Given the description of an element on the screen output the (x, y) to click on. 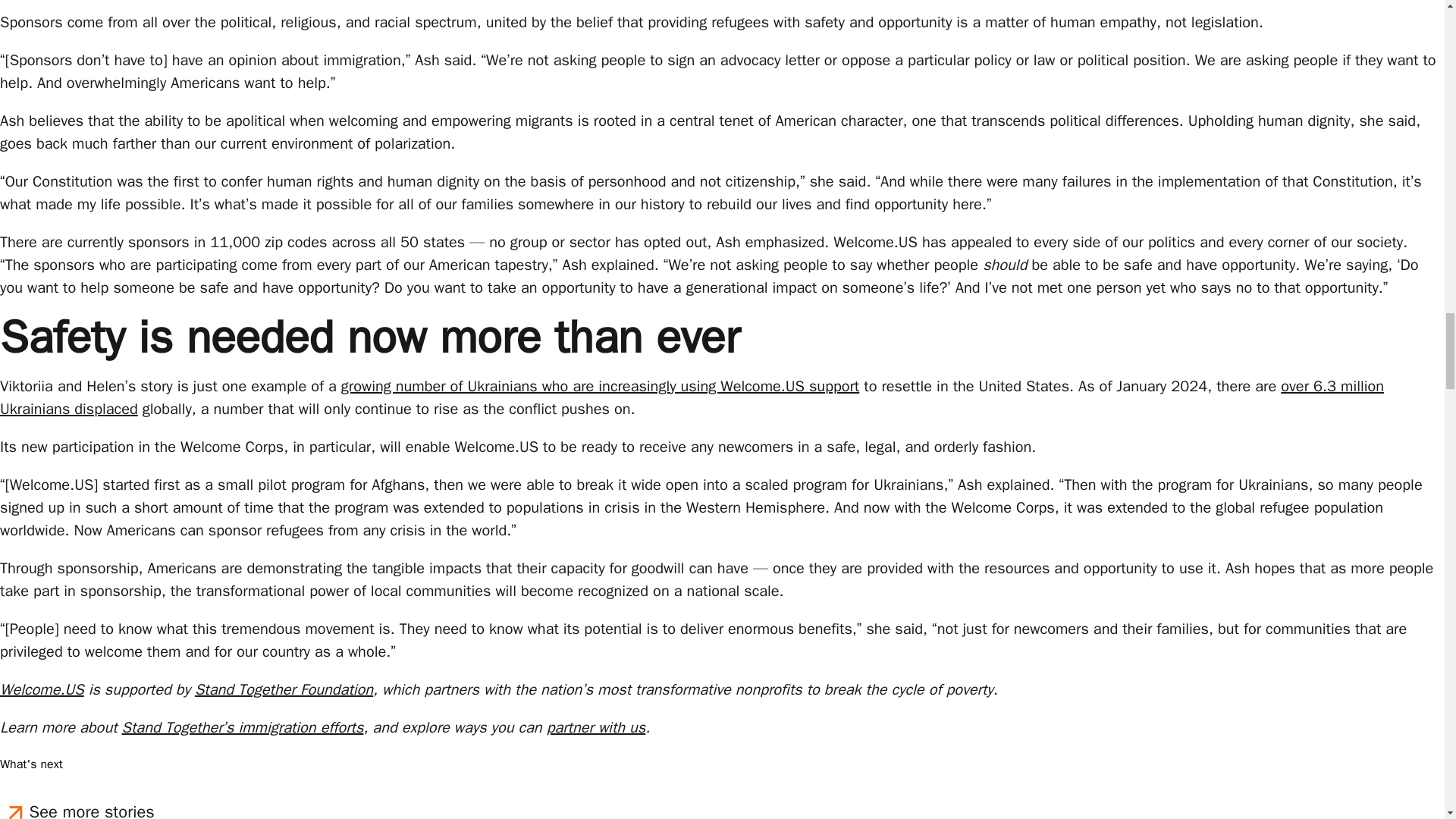
Welcome.US (42, 689)
partner with us (596, 727)
Stand Together Foundation (283, 689)
over 6.3 million Ukrainians displaced (692, 397)
